Given the description of an element on the screen output the (x, y) to click on. 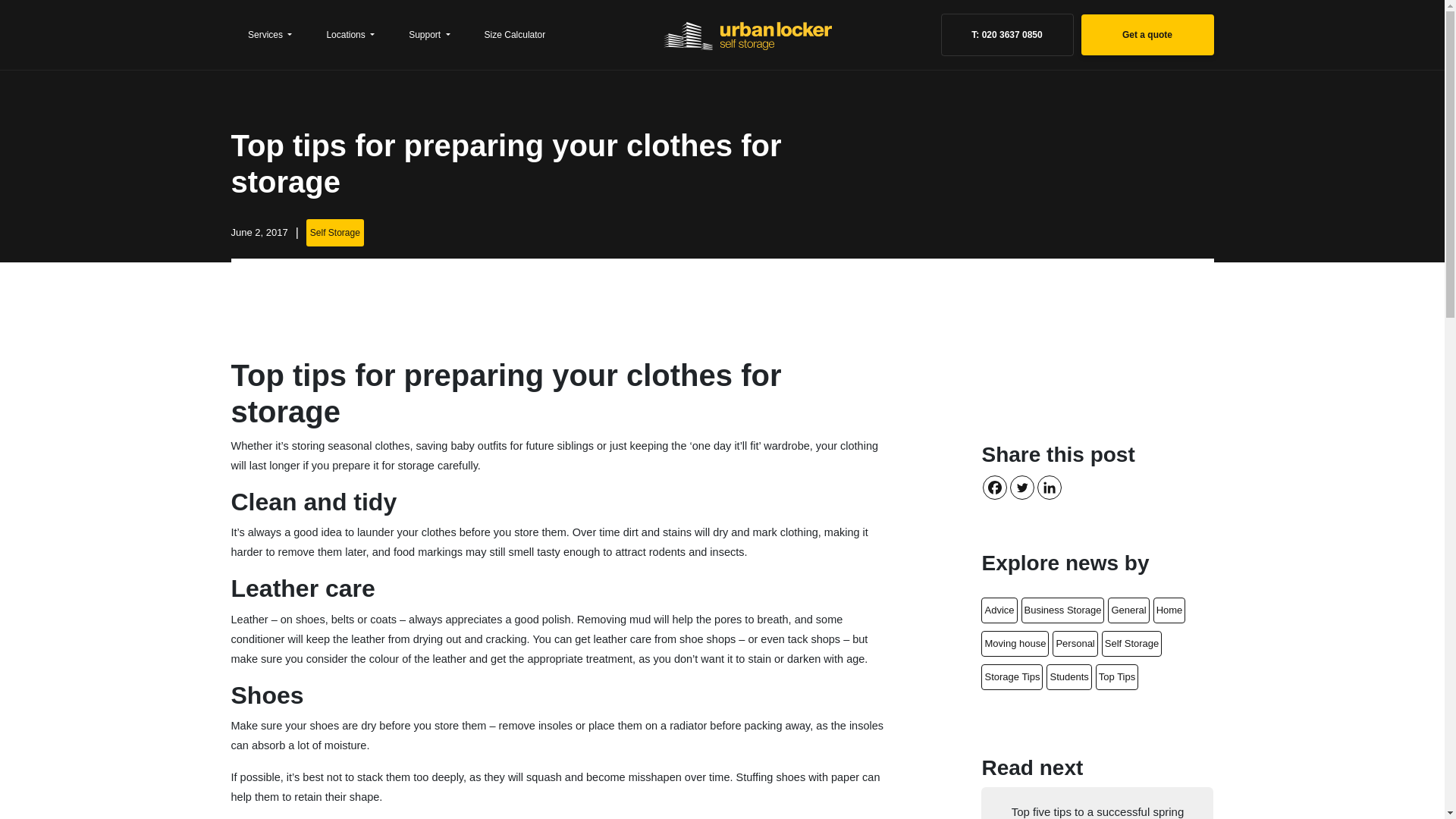
General (1127, 609)
Top Tips (1117, 676)
Self Storage (1131, 643)
Self Storage (334, 232)
Home (1169, 609)
Support (429, 34)
Urban Locker (798, 34)
Locations (350, 34)
Size Calculator (514, 34)
Top five tips to a successful spring clean (1096, 803)
